Given the description of an element on the screen output the (x, y) to click on. 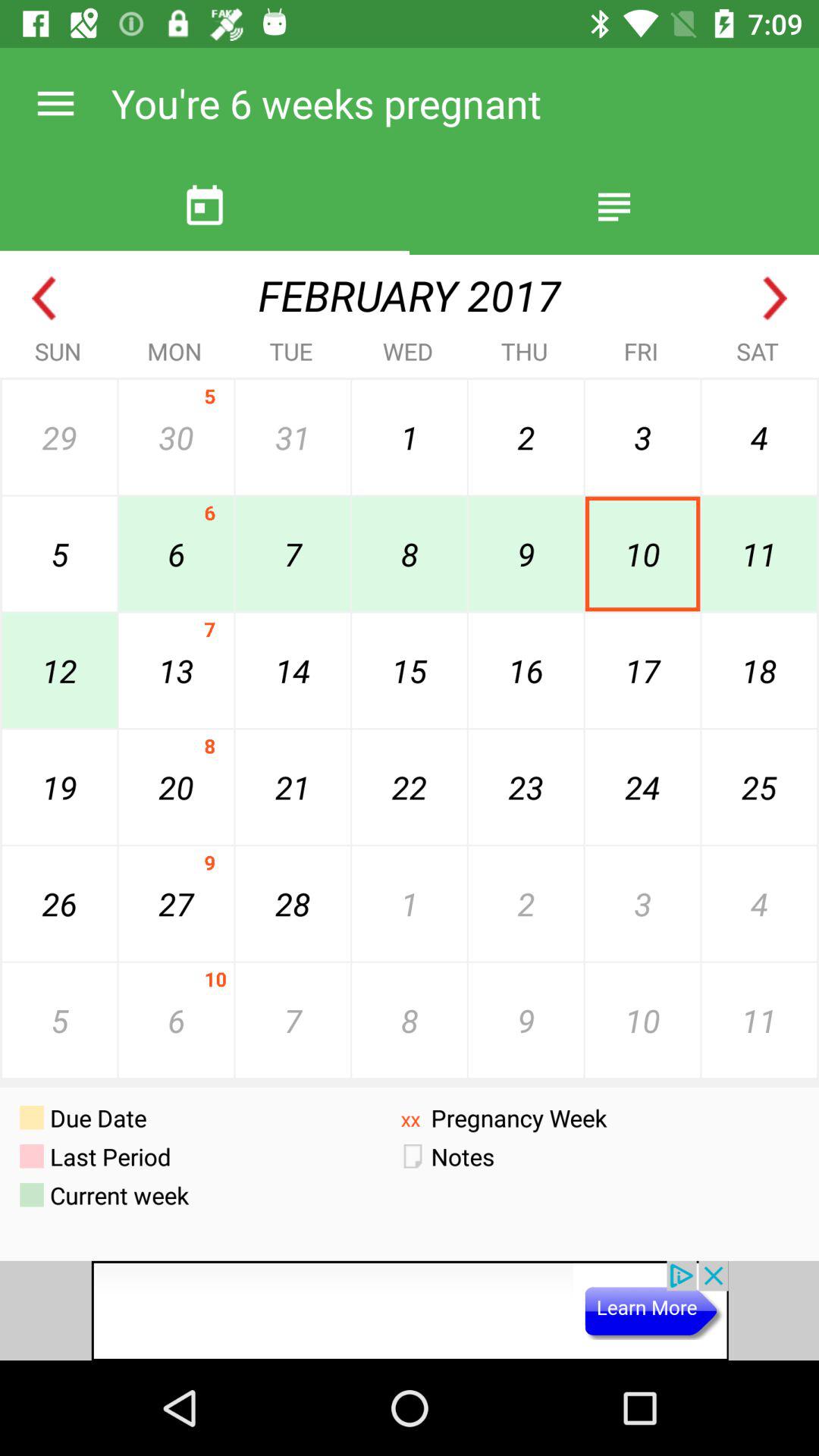
previous month (43, 298)
